Given the description of an element on the screen output the (x, y) to click on. 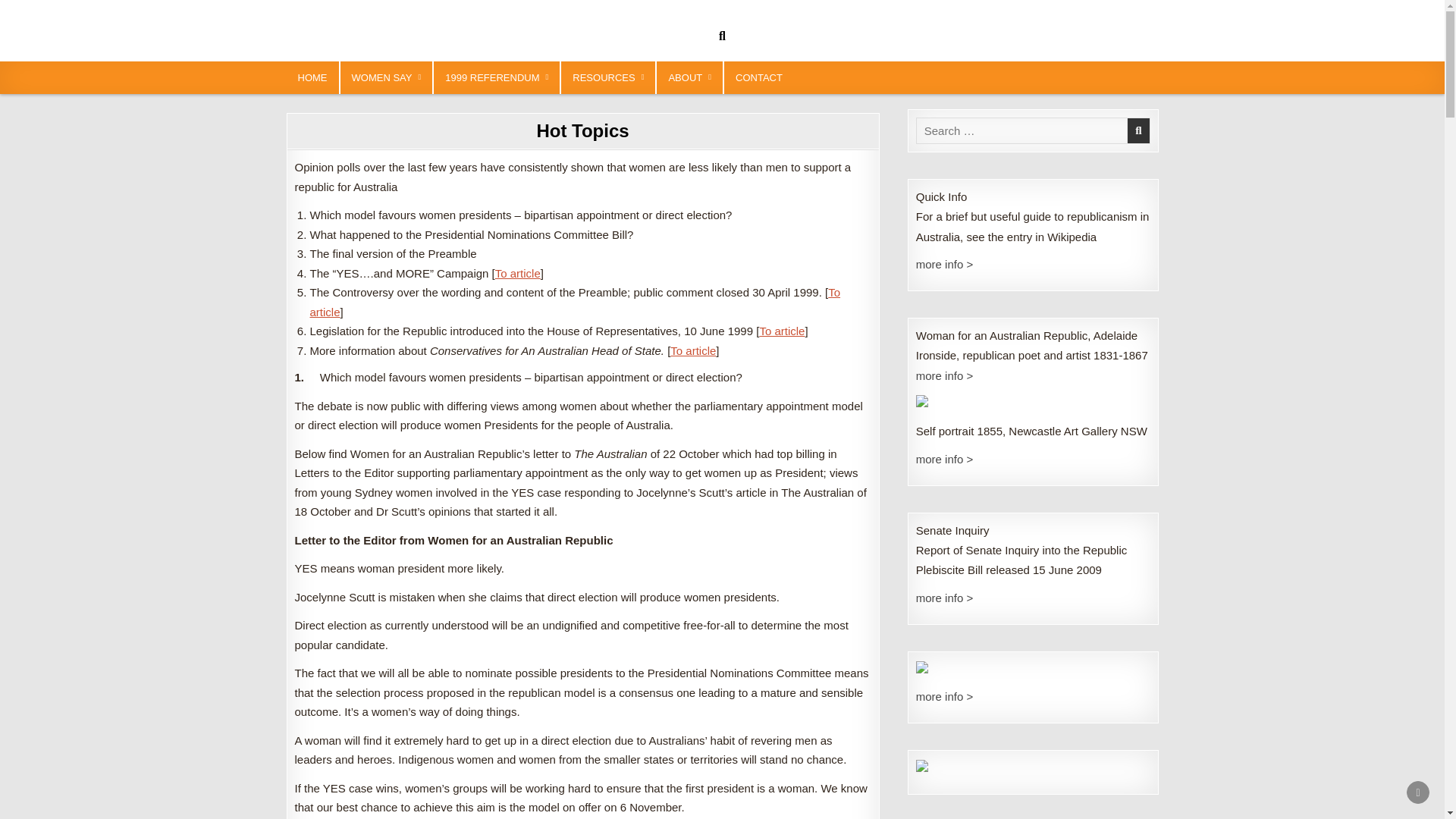
HOME (312, 77)
SCROLL TO TOP (1417, 792)
WOMEN SAY (386, 77)
1999 REFERENDUM (496, 77)
WOMEN for an Australian Republic (437, 27)
Scroll to Top (1417, 792)
